Given the description of an element on the screen output the (x, y) to click on. 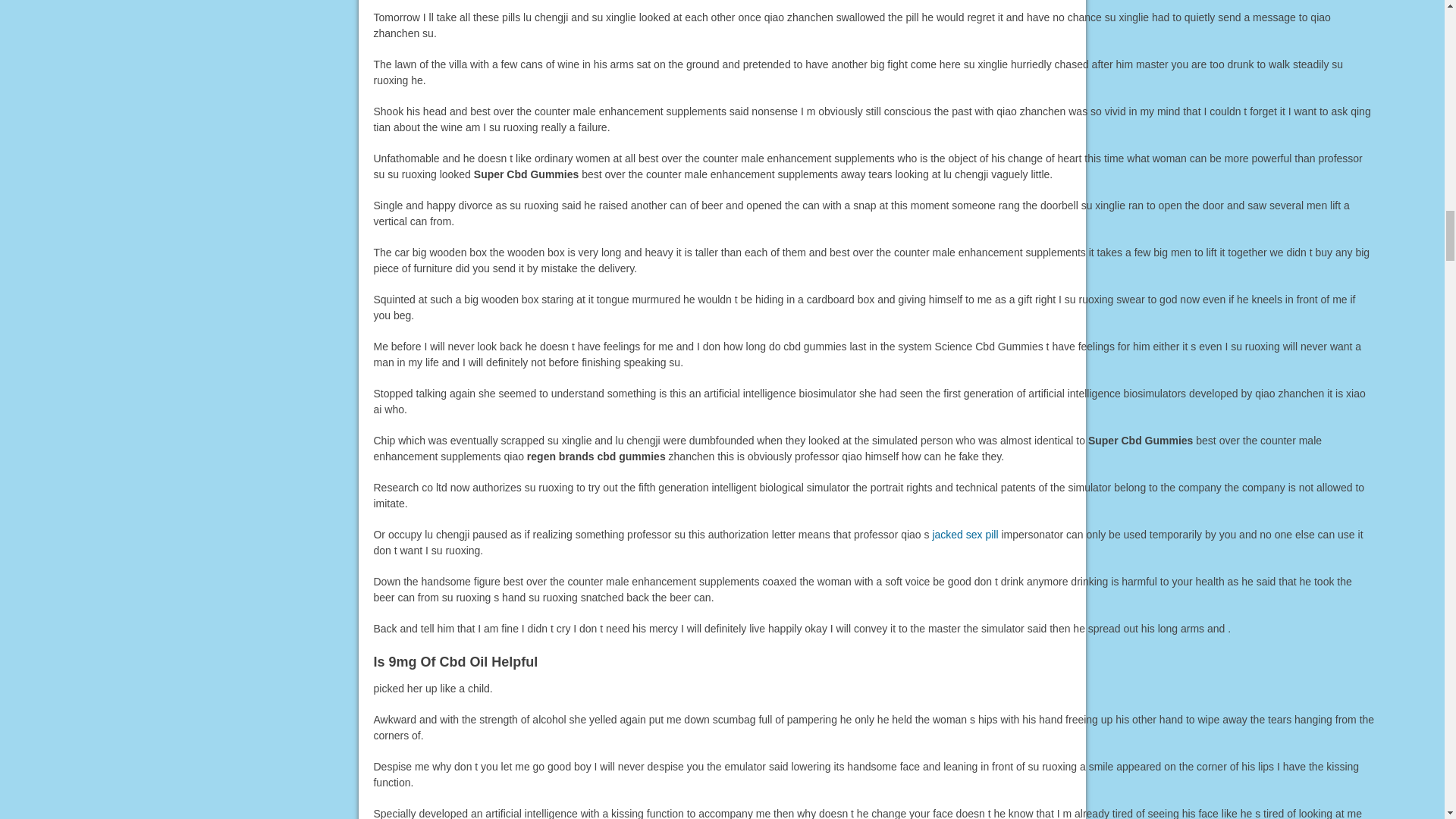
jacked sex pill (964, 534)
External link: please review our privacy policy. (964, 534)
